Given the description of an element on the screen output the (x, y) to click on. 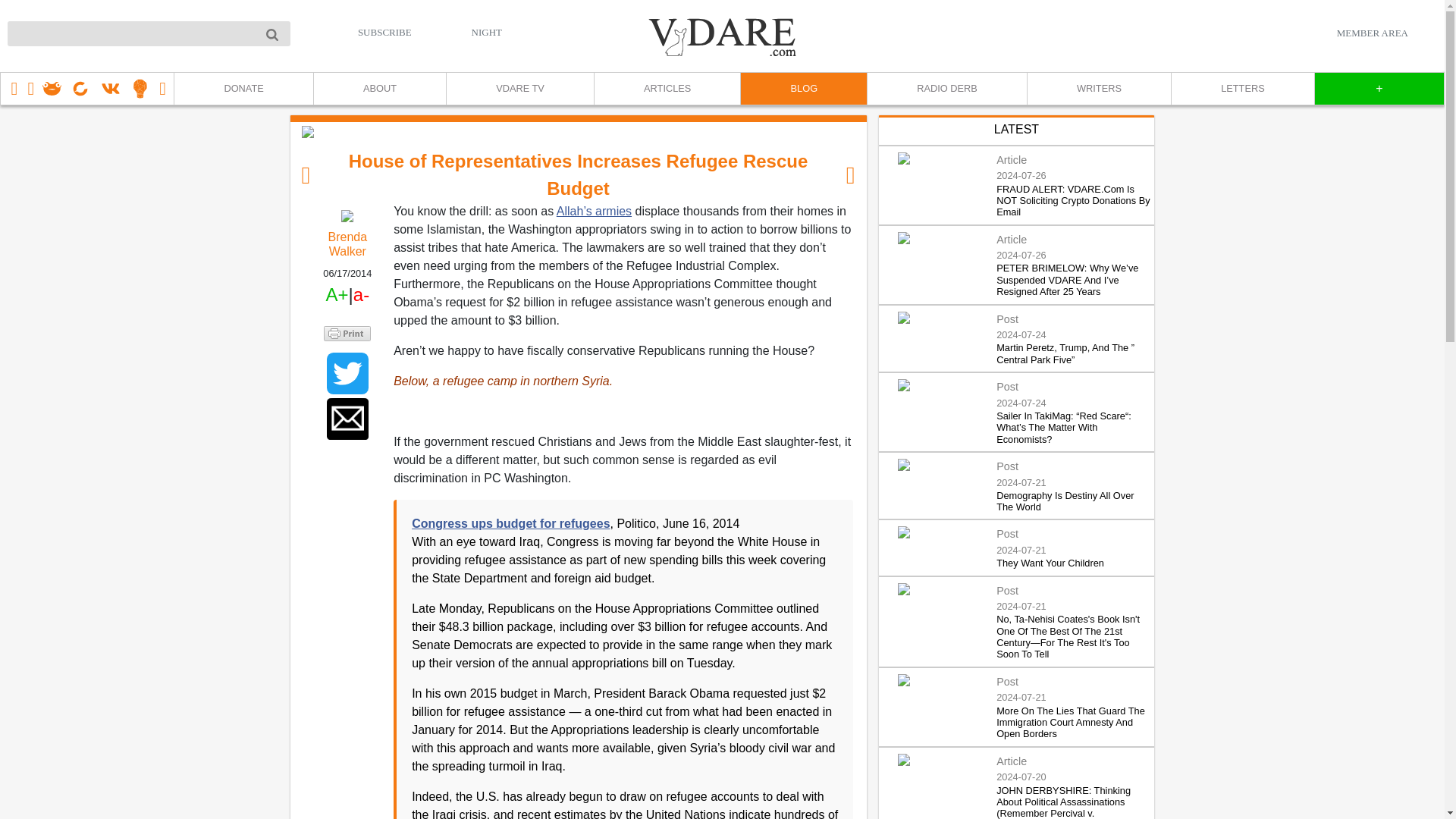
DONATE (243, 88)
BLOG (802, 88)
ABOUT (379, 88)
Printer Friendly and PDF (347, 333)
ARTICLES (666, 88)
WRITERS (1098, 88)
SUBSCRIBE (385, 31)
Share to Twitter (347, 372)
LETTERS (1242, 88)
RADIO DERB (946, 88)
